Given the description of an element on the screen output the (x, y) to click on. 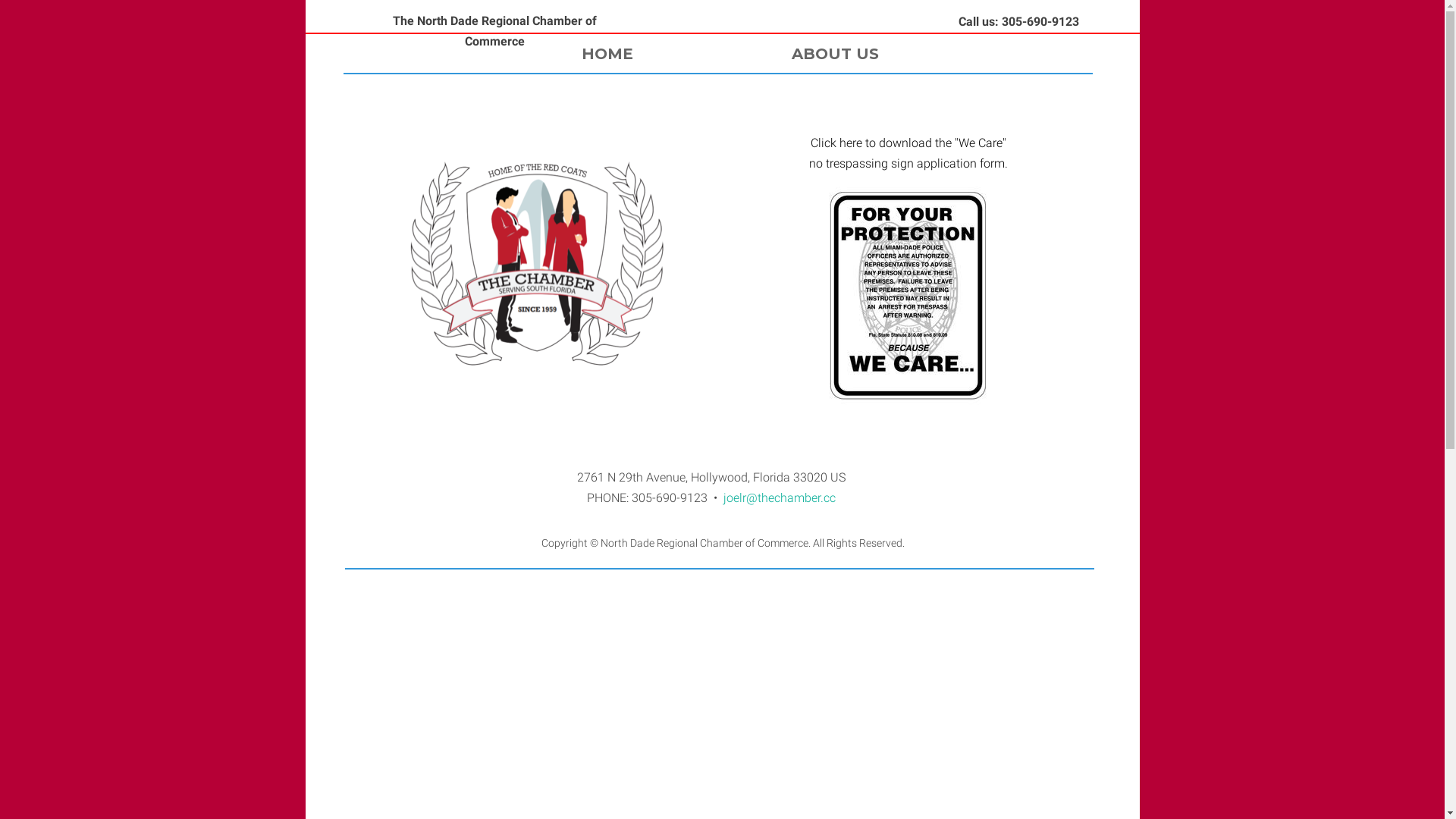
ign Element type: text (904, 163)
no Element type: text (815, 163)
Click here Element type: text (835, 142)
"We Care" Element type: text (977, 142)
application form. Element type: text (961, 163)
trespassing Element type: text (854, 163)
HOME Element type: text (620, 53)
joelr@thechamber.cc Element type: text (779, 497)
to Element type: text (868, 142)
the Element type: text (940, 142)
download Element type: text (903, 142)
ABOUT US Element type: text (847, 53)
